Given the description of an element on the screen output the (x, y) to click on. 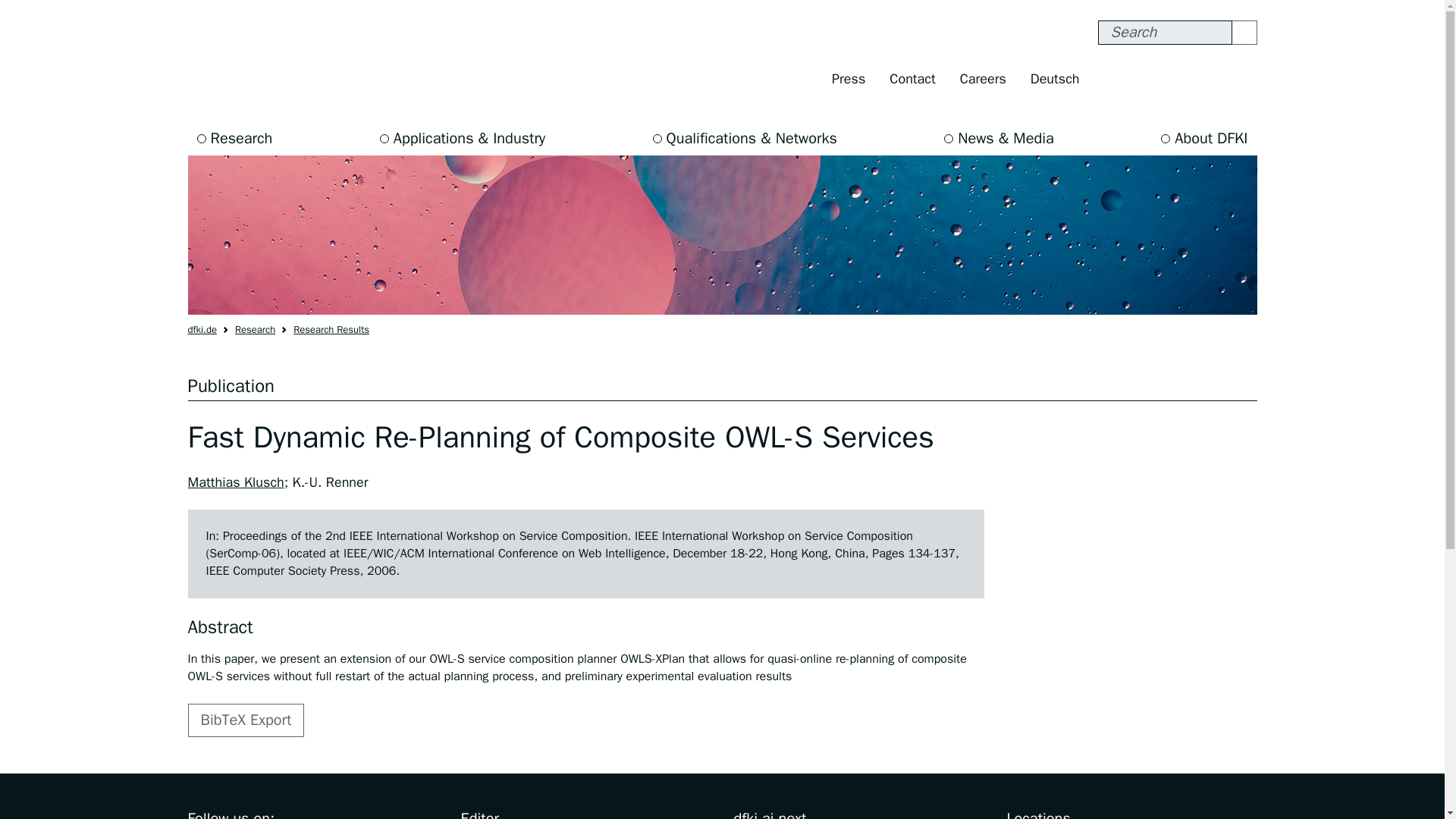
Follow us on: LinkedIn (1240, 79)
Deutsch (1054, 79)
Follow us on: Facebook (1113, 79)
Follow us on: LinkedIn (1240, 79)
Follow us on: Youtube (1209, 79)
Research (234, 138)
Translate to Deutsch (1054, 79)
Follow us on: Youtube (1209, 79)
Press (848, 79)
Follow us on: Instagram (1145, 79)
Careers (982, 79)
Follow us on: X (1177, 79)
dfki.de (201, 328)
Follow us on: X (1177, 79)
Follow us on: Instagram (1145, 79)
